Given the description of an element on the screen output the (x, y) to click on. 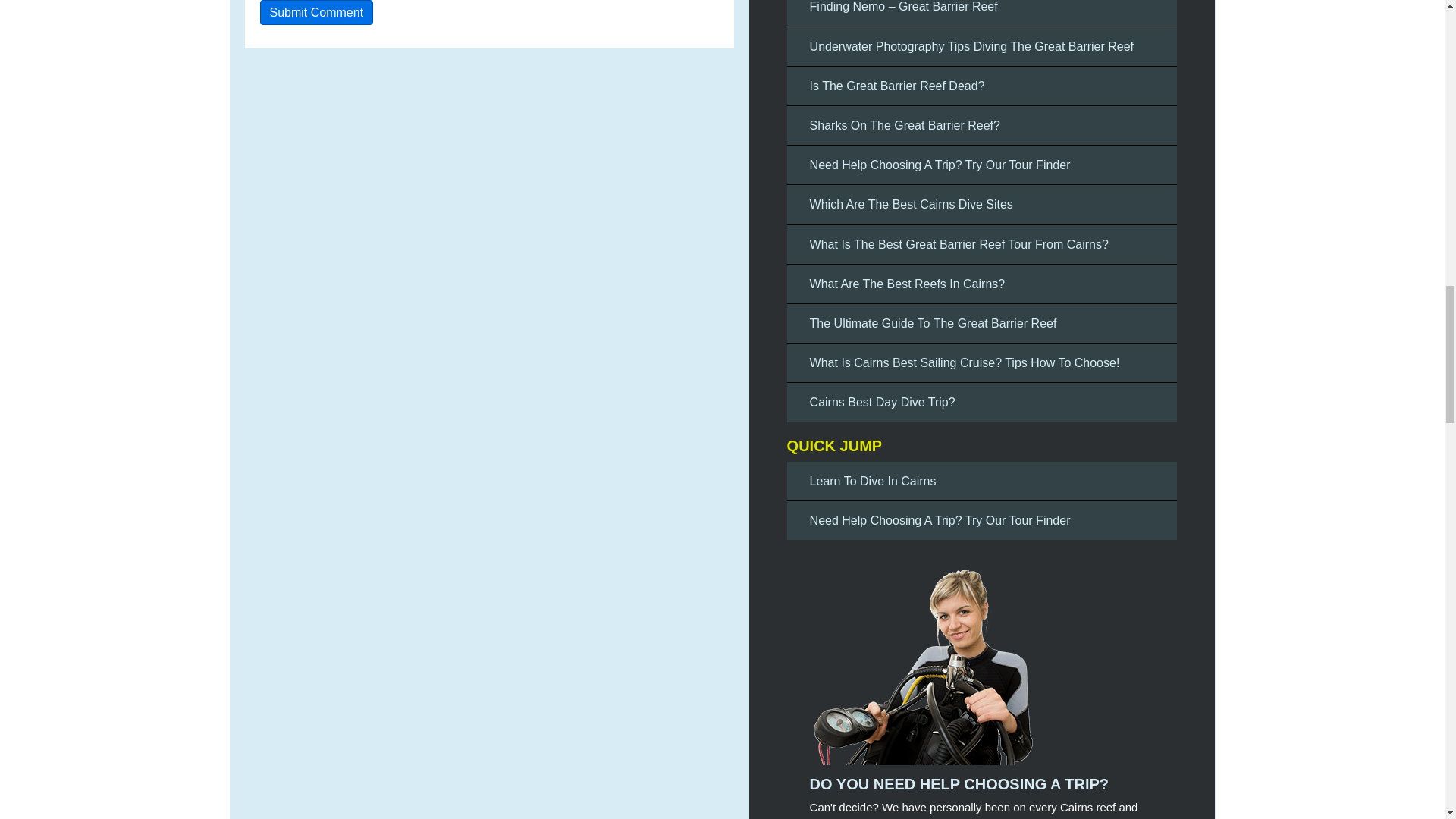
Submit Comment (315, 12)
